Given the description of an element on the screen output the (x, y) to click on. 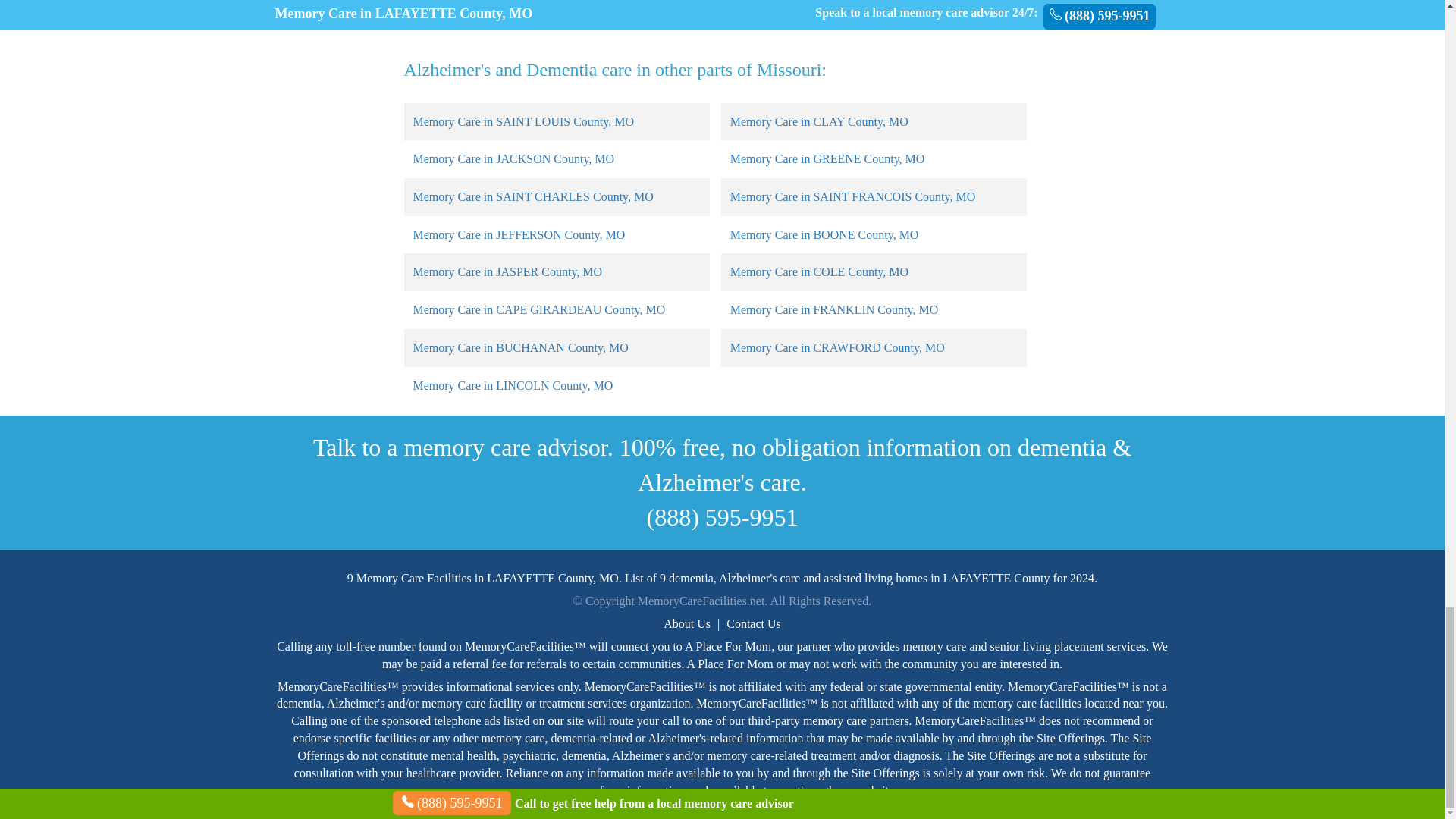
Memory Care in JACKSON County, MO (513, 158)
Memory Care in GREENE County, MO (827, 158)
Memory Care in JEFFERSON County, MO (518, 234)
Memory Care in SAINT CHARLES County, MO (532, 196)
Memory Care in FRANKLIN County, MO (834, 309)
Memory Care in CAPE GIRARDEAU County, MO (538, 309)
Memory Care in BOONE County, MO (824, 234)
Memory Care in COLE County, MO (819, 271)
Memory Care in BUCHANAN County, MO (519, 347)
Memory Care in SAINT FRANCOIS County, MO (852, 196)
Memory Care in JASPER County, MO (507, 271)
Memory Care in CLAY County, MO (819, 121)
Memory Care in SAINT LOUIS County, MO (522, 121)
